Given the description of an element on the screen output the (x, y) to click on. 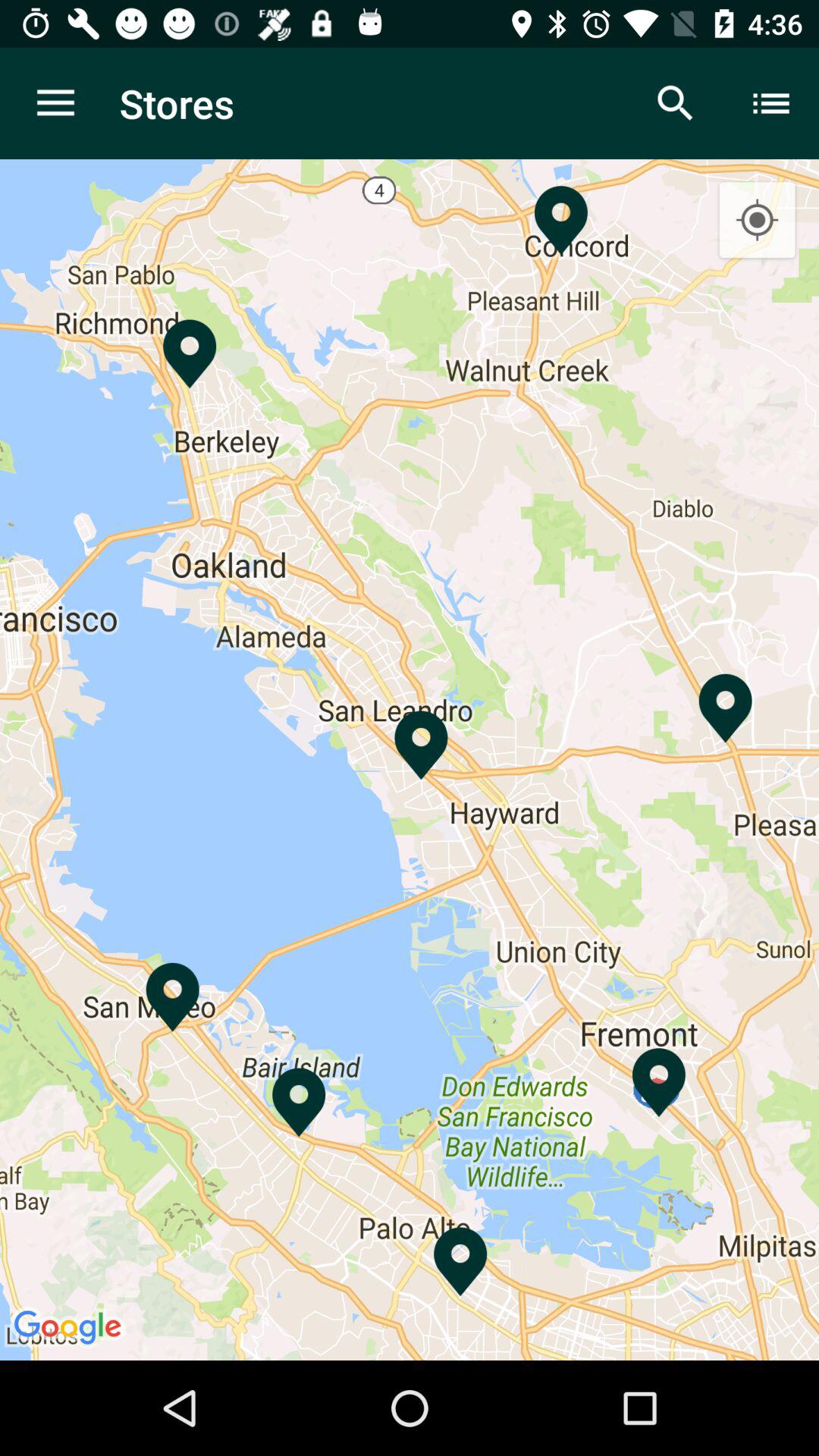
press app next to the stores app (675, 103)
